Given the description of an element on the screen output the (x, y) to click on. 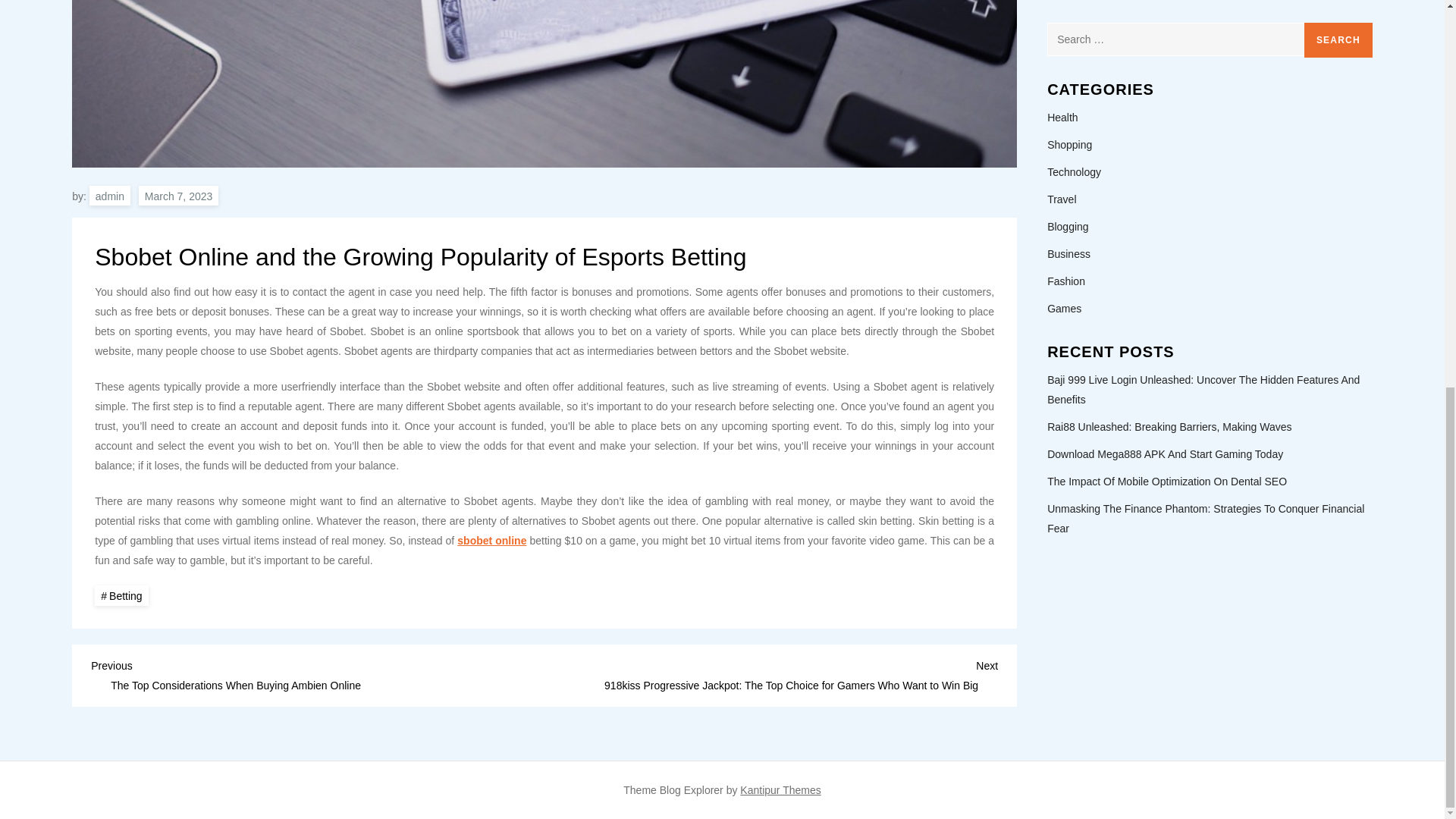
March 7, 2023 (178, 195)
Kantipur Themes (780, 789)
Betting (121, 595)
sbobet online (491, 540)
admin (109, 195)
